Given the description of an element on the screen output the (x, y) to click on. 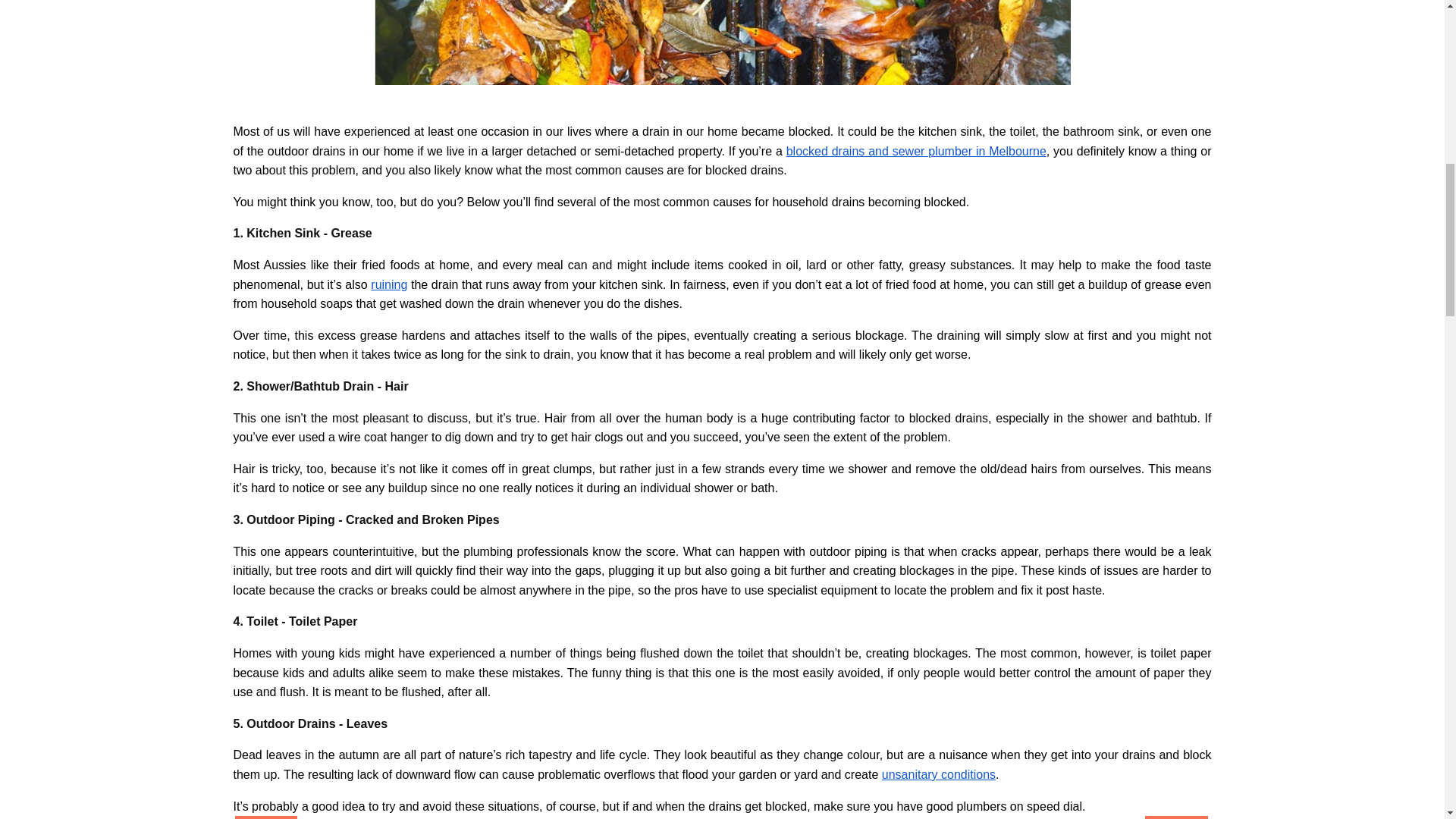
ruining (389, 284)
PREV (266, 817)
blocked drains and sewer plumber in Melbourne (916, 151)
NEXT (1175, 817)
unsanitary conditions (938, 774)
